Given the description of an element on the screen output the (x, y) to click on. 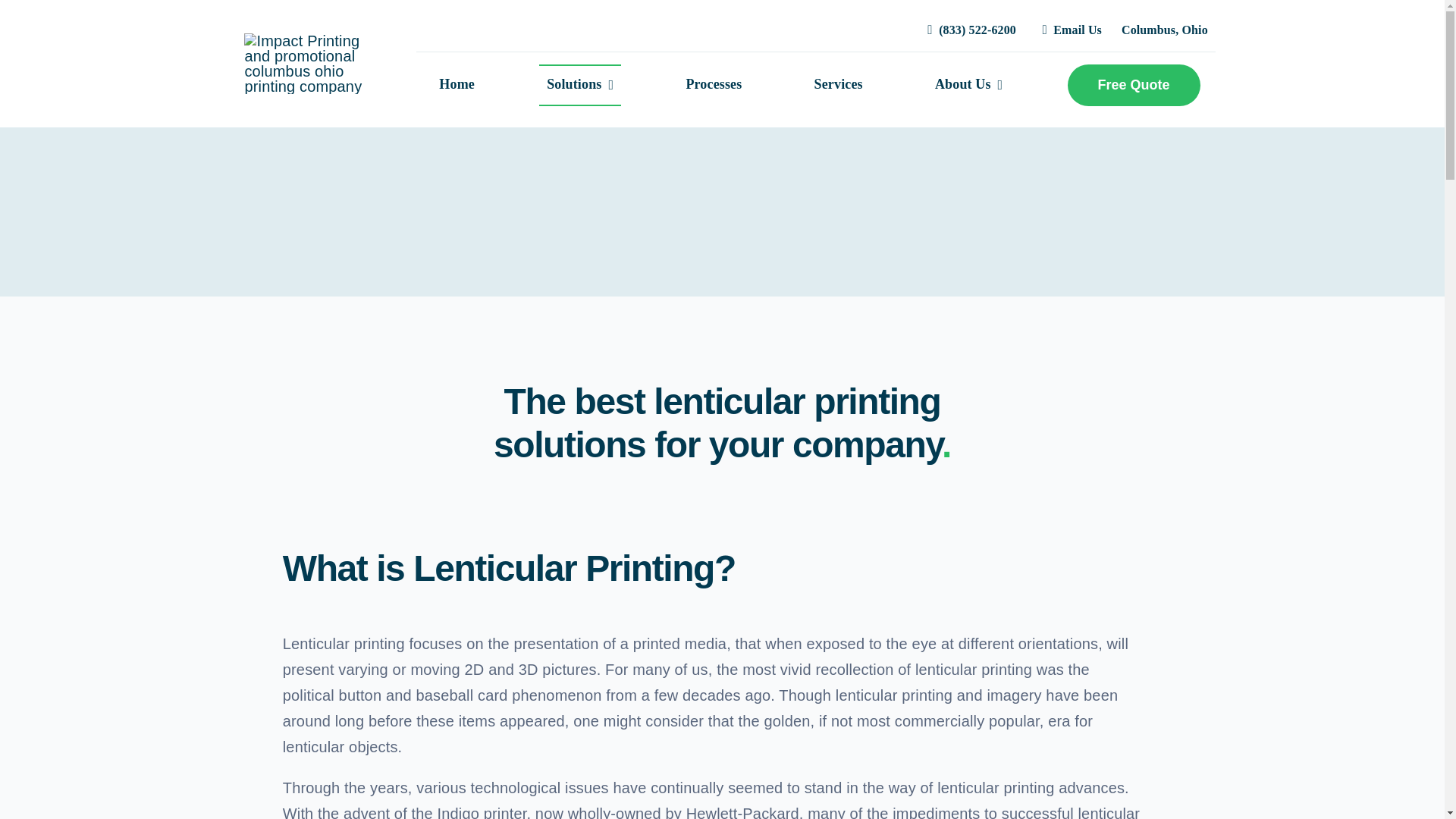
About Us (968, 85)
Home (455, 85)
Solutions (579, 85)
Email Us (1068, 30)
Columbus, Ohio (1164, 30)
Services (838, 85)
Free Quote (1133, 85)
Processes (713, 85)
